Given the description of an element on the screen output the (x, y) to click on. 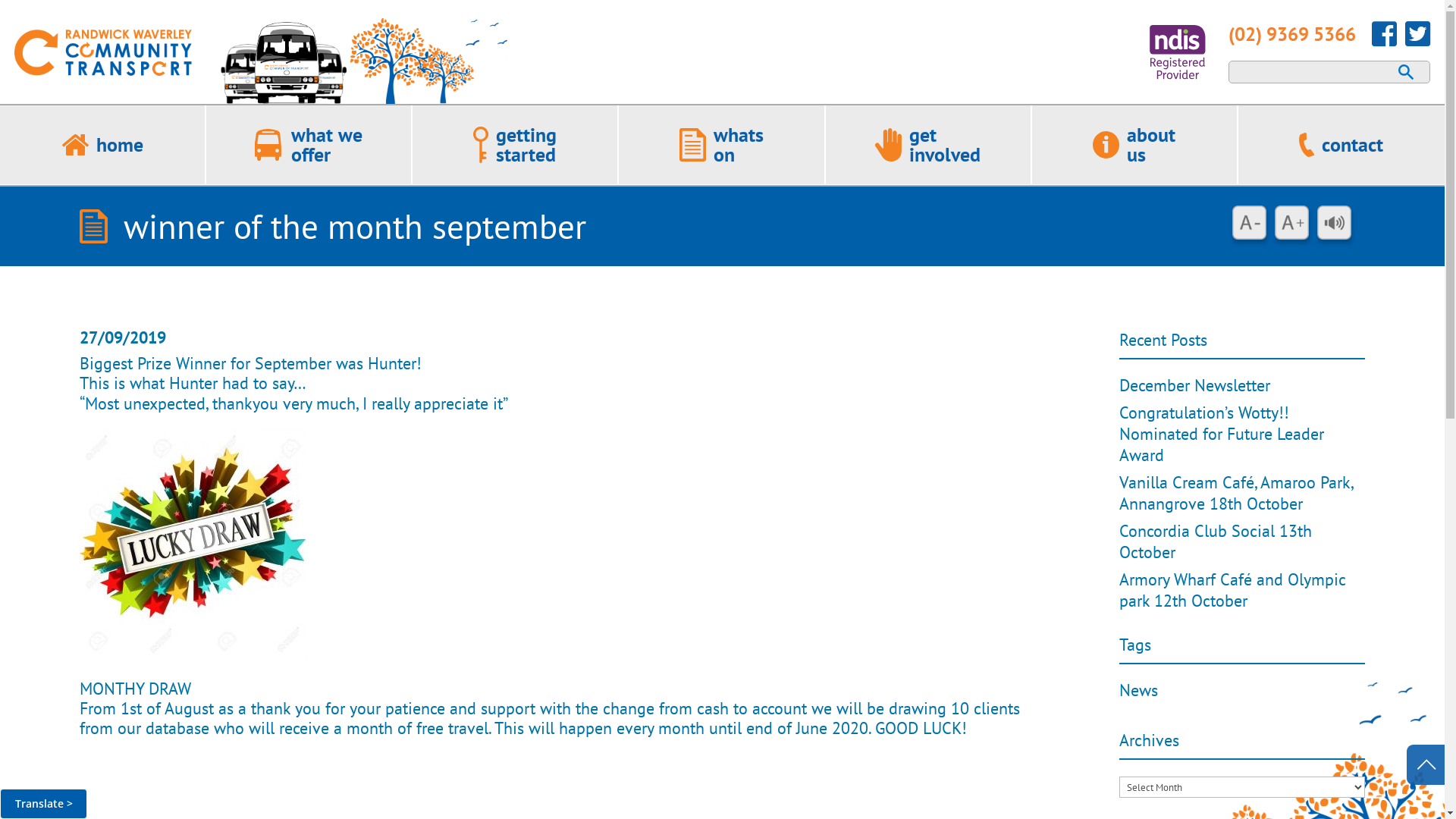
(02) 9369 5366 Element type: text (1291, 33)
News Element type: text (1138, 689)
Concordia Club Social 13th October Element type: text (1215, 541)
what we offer Element type: text (326, 144)
December Newsletter Element type: text (1194, 384)
RWCT-HEADER Element type: hover (260, 60)
